Given the description of an element on the screen output the (x, y) to click on. 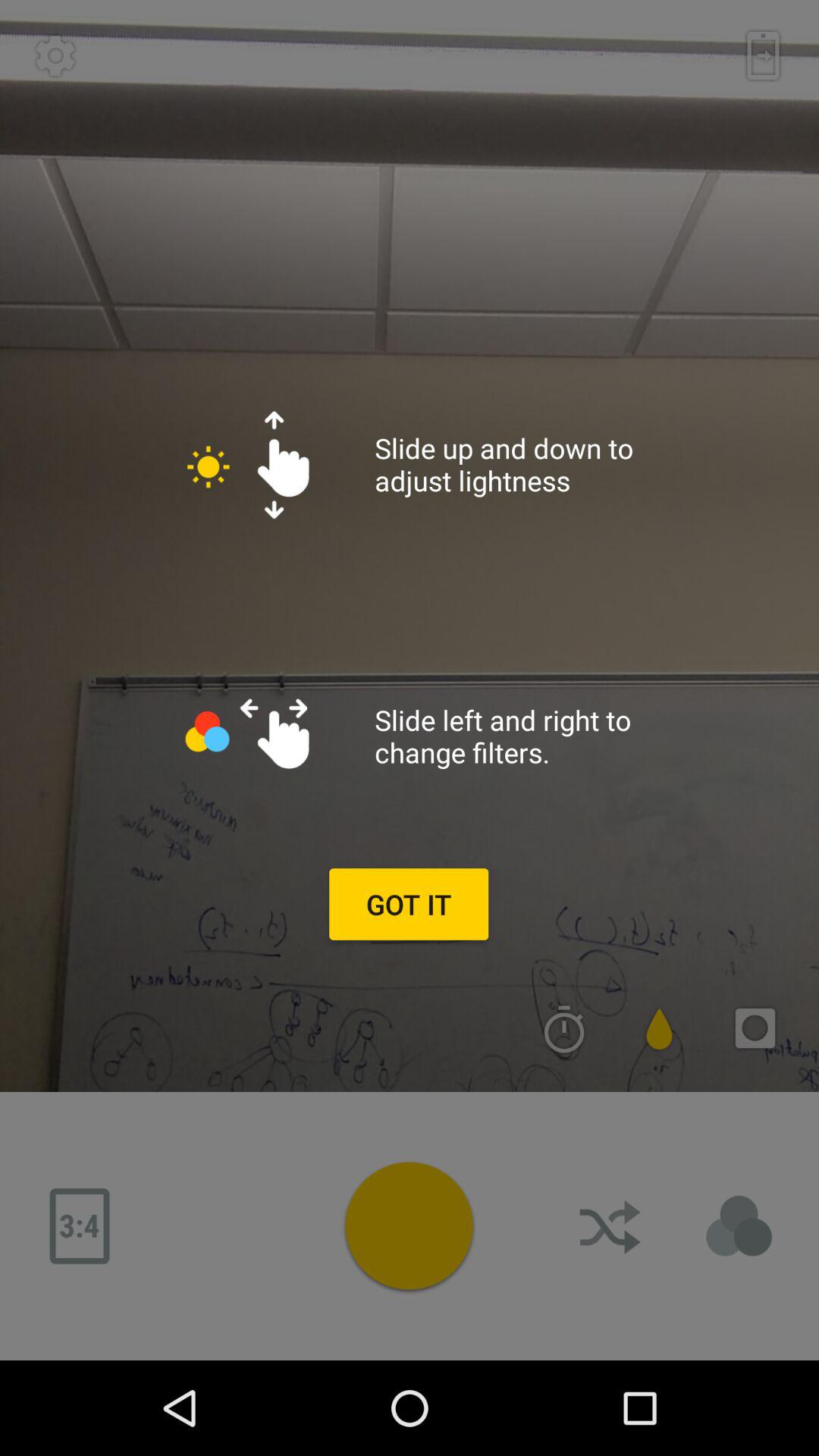
click the shuffle option (611, 1226)
